Given the description of an element on the screen output the (x, y) to click on. 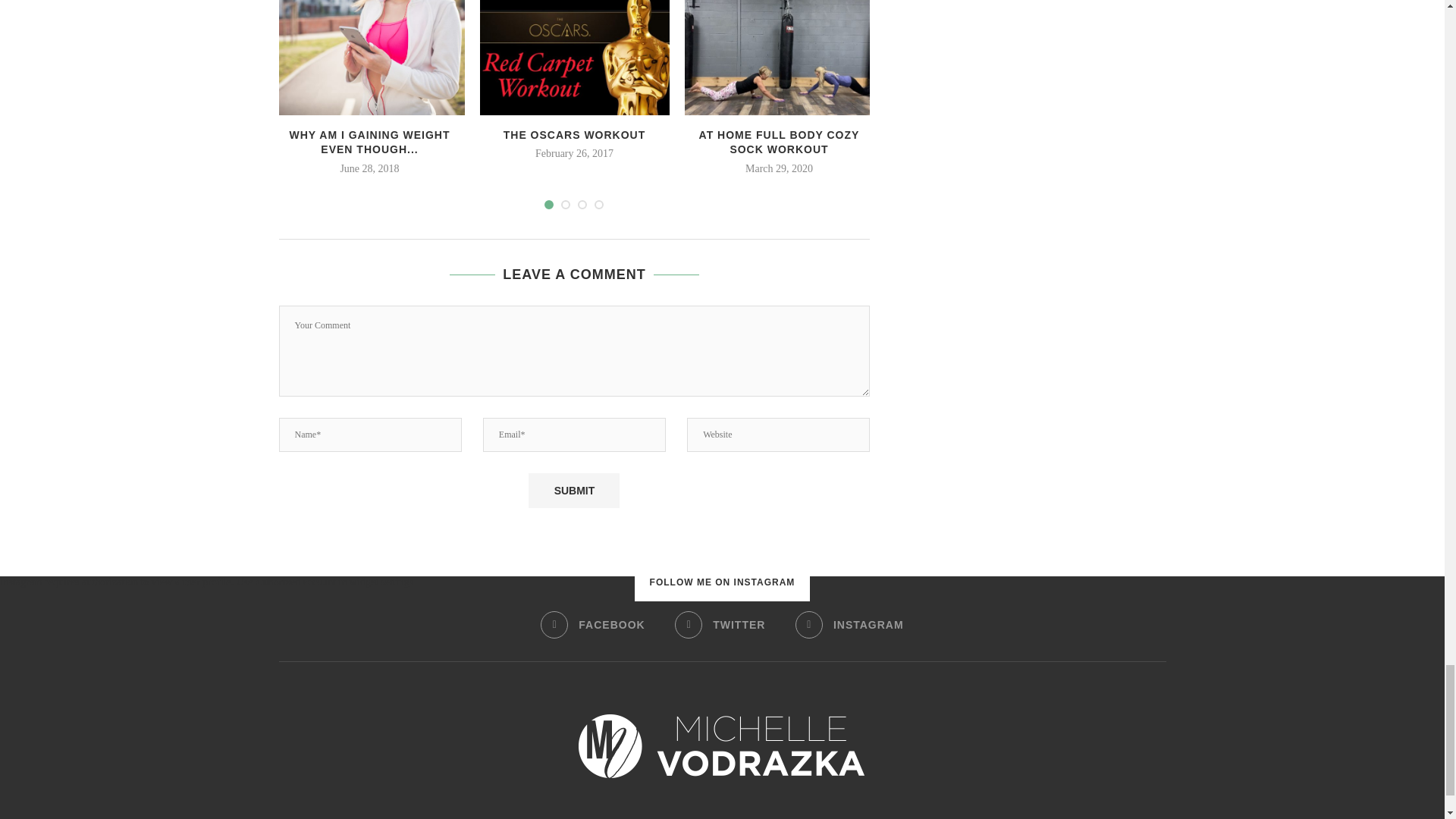
Submit (574, 490)
